Given the description of an element on the screen output the (x, y) to click on. 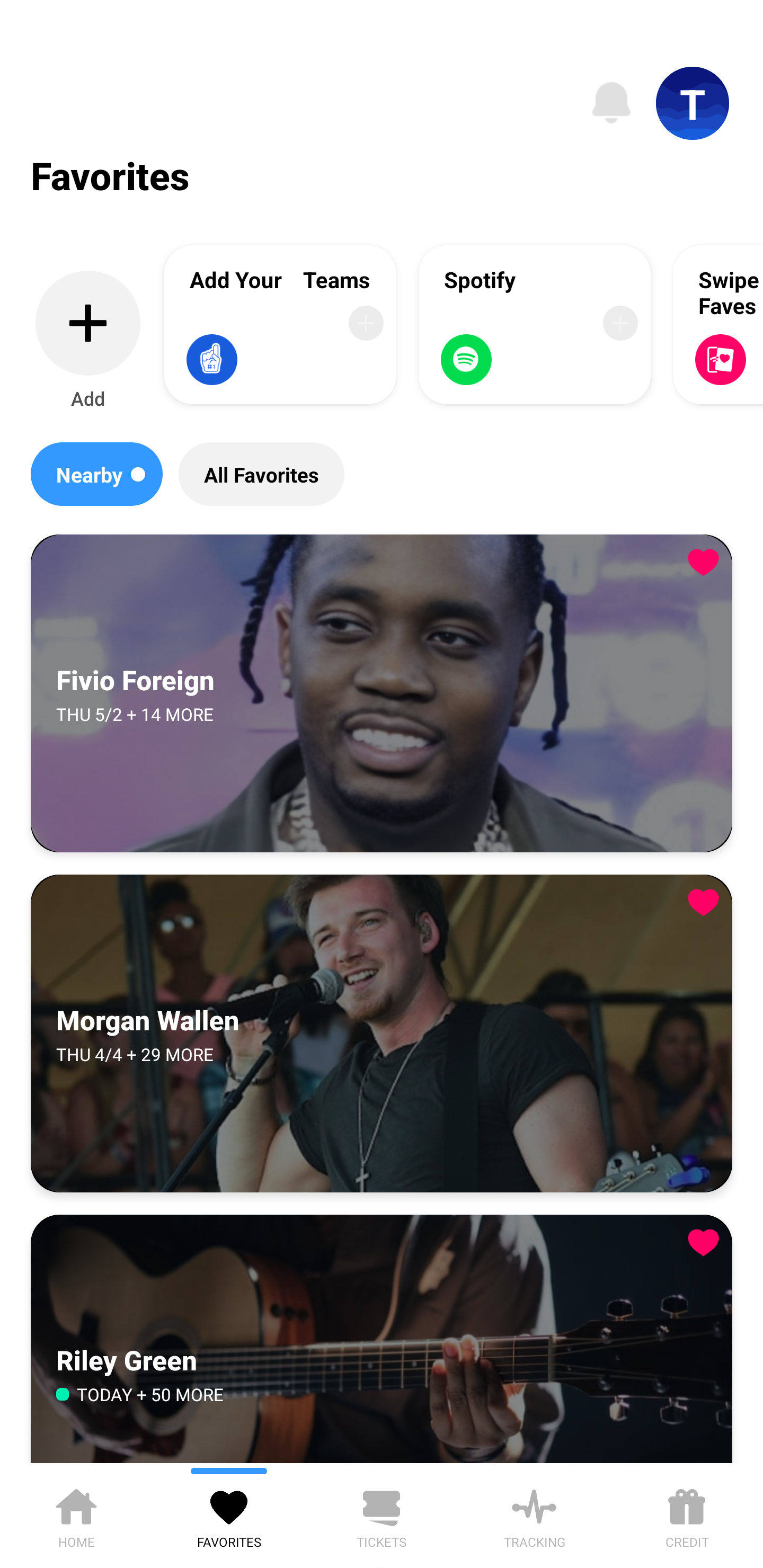
T (692, 103)
Add Your    Teams (279, 324)
Spotify (534, 324)
Add (87, 340)
Nearby (96, 474)
All Favorites (261, 474)
HOME (76, 1515)
FAVORITES (228, 1515)
TICKETS (381, 1515)
TRACKING (533, 1515)
CREDIT (686, 1515)
